Given the description of an element on the screen output the (x, y) to click on. 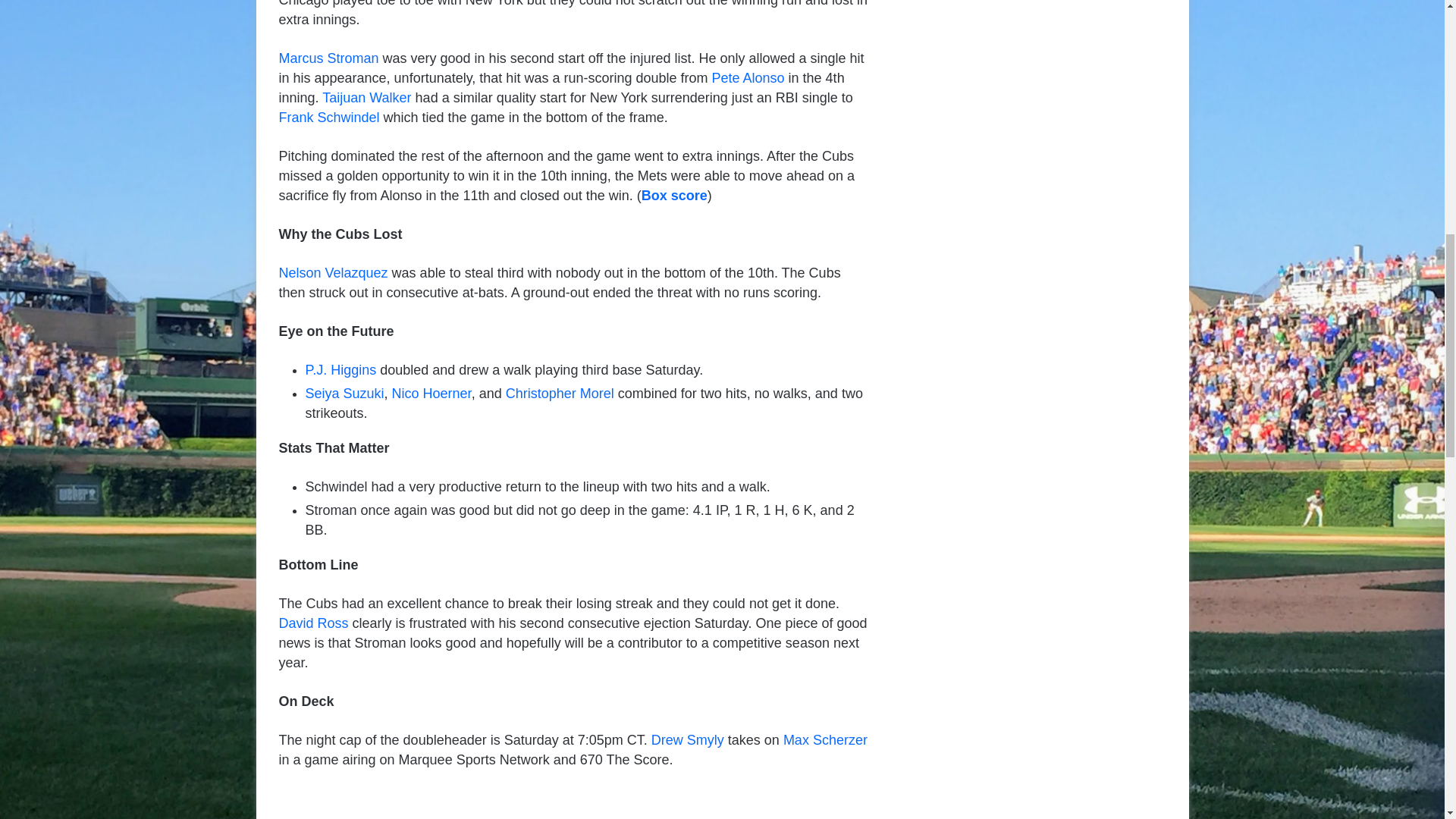
Pete Alonso (747, 77)
Marcus Stroman (328, 58)
Taijuan Walker (365, 97)
